Given the description of an element on the screen output the (x, y) to click on. 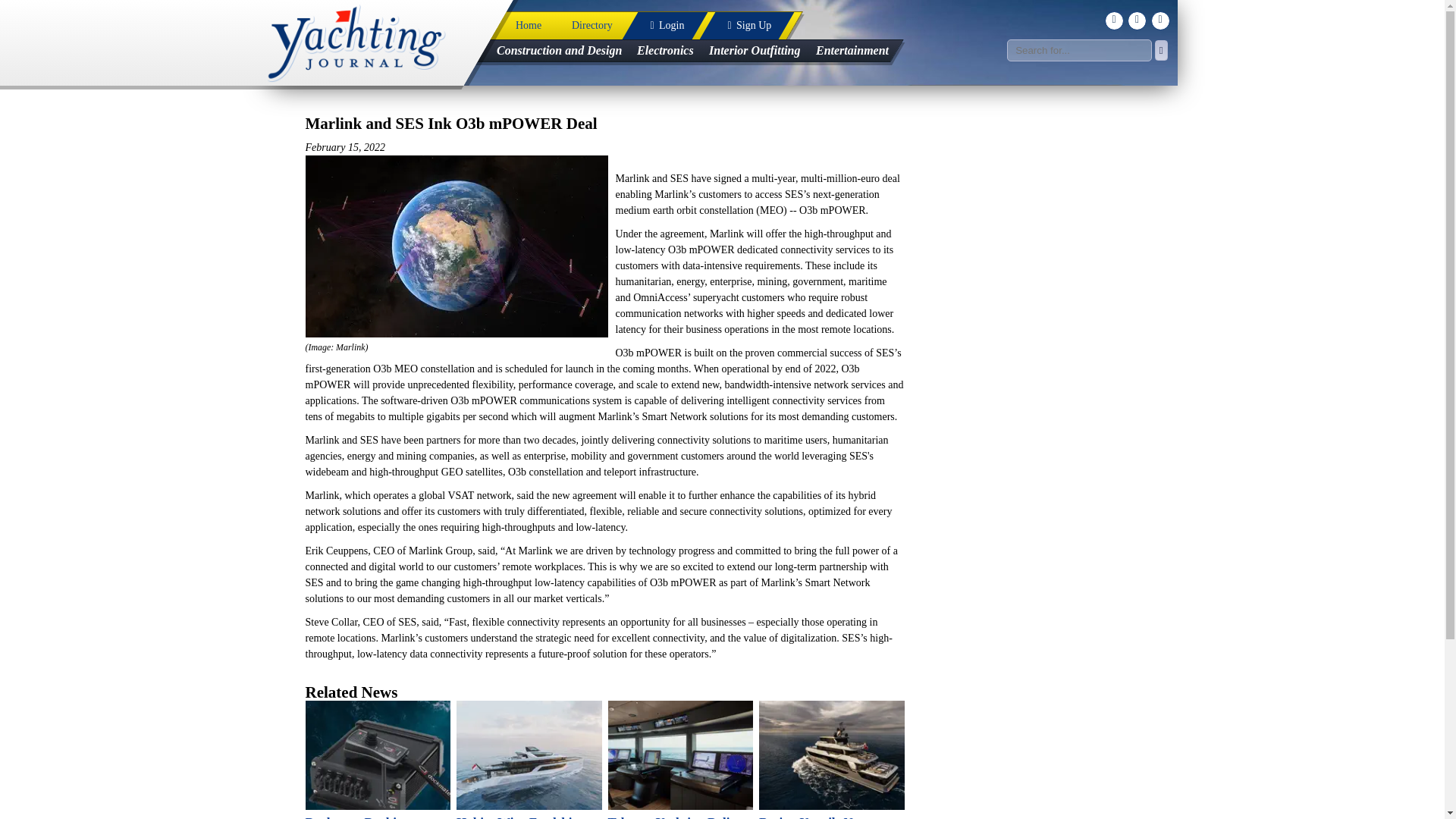
Interior Outfitting (754, 50)
Directory (591, 25)
Home (528, 25)
Hakim Wins Feadship Young Designer Award (529, 760)
Construction and Design (557, 50)
Login (655, 25)
Bering Unveils New Superyacht Concept (831, 760)
Entertainment (851, 50)
Sign Up (737, 25)
Electronics (664, 50)
Dockmate Docking Solutions Available on All Maritimo Vessels (376, 760)
